Given the description of an element on the screen output the (x, y) to click on. 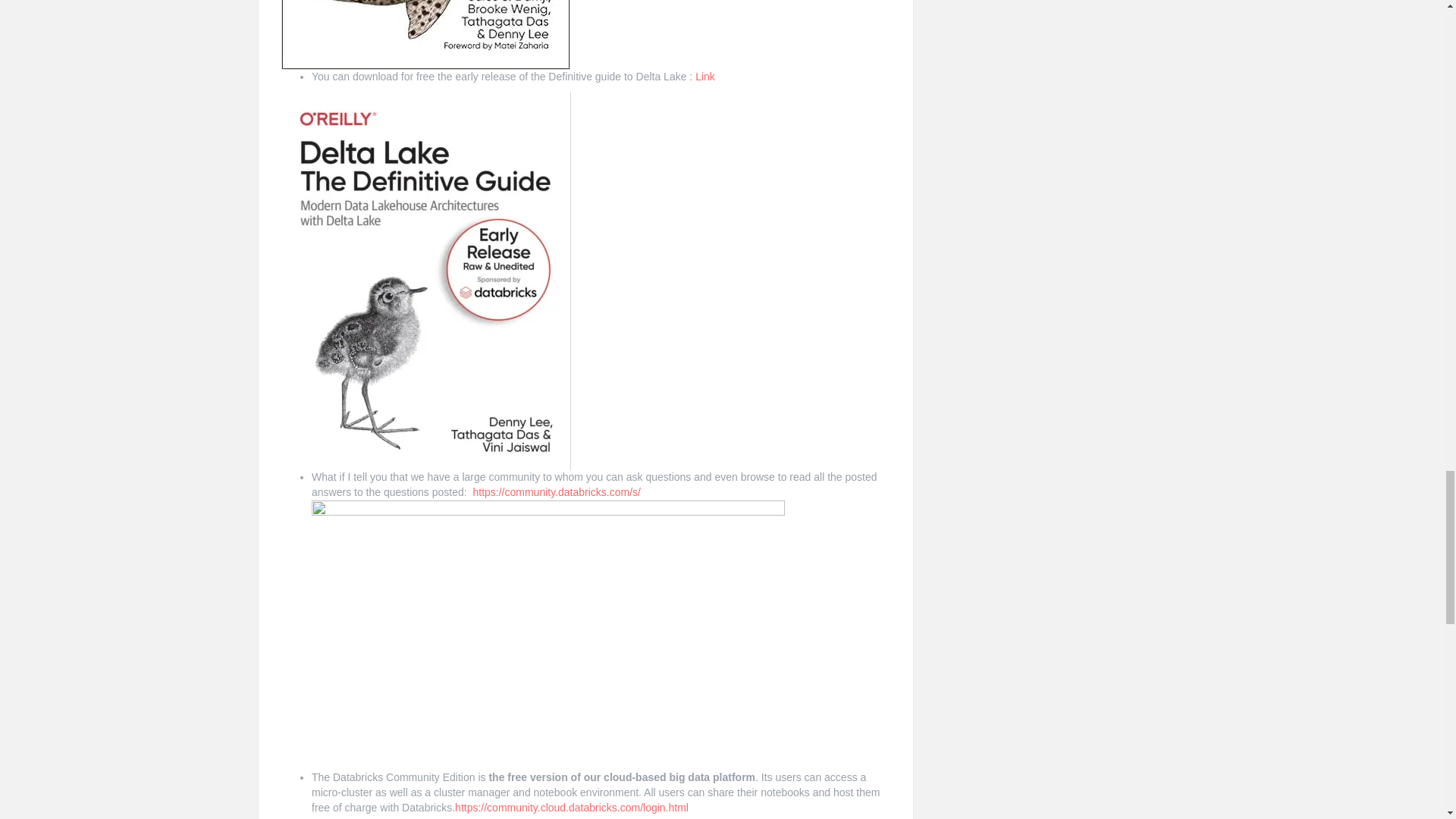
Link (704, 75)
